Given the description of an element on the screen output the (x, y) to click on. 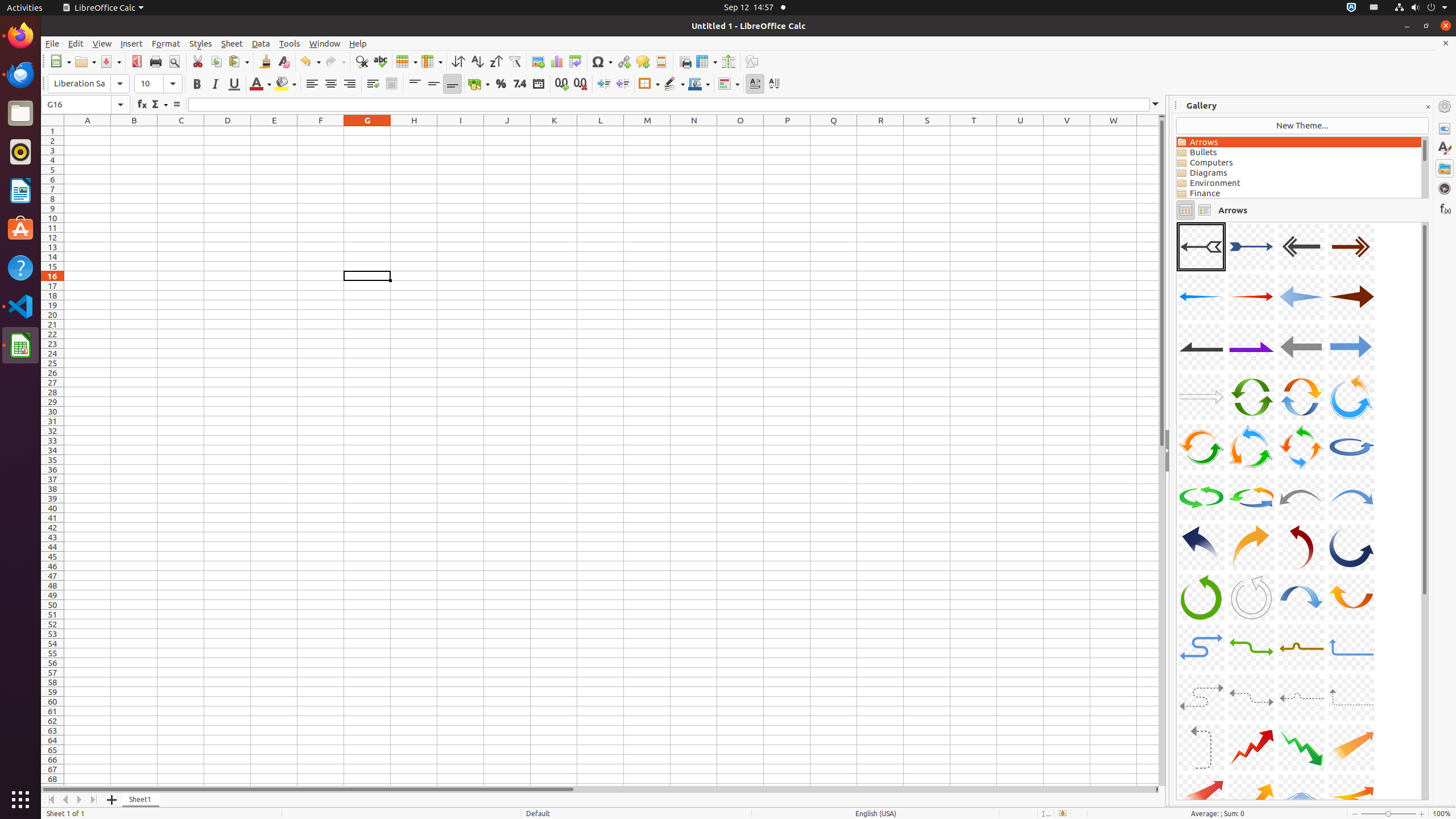
Align Right Element type: push-button (349, 83)
Image Element type: push-button (537, 61)
J1 Element type: table-cell (507, 130)
New Element type: push-button (59, 61)
A12-Arrow-LightBlue-Right Element type: list-item (1350, 346)
